Given the description of an element on the screen output the (x, y) to click on. 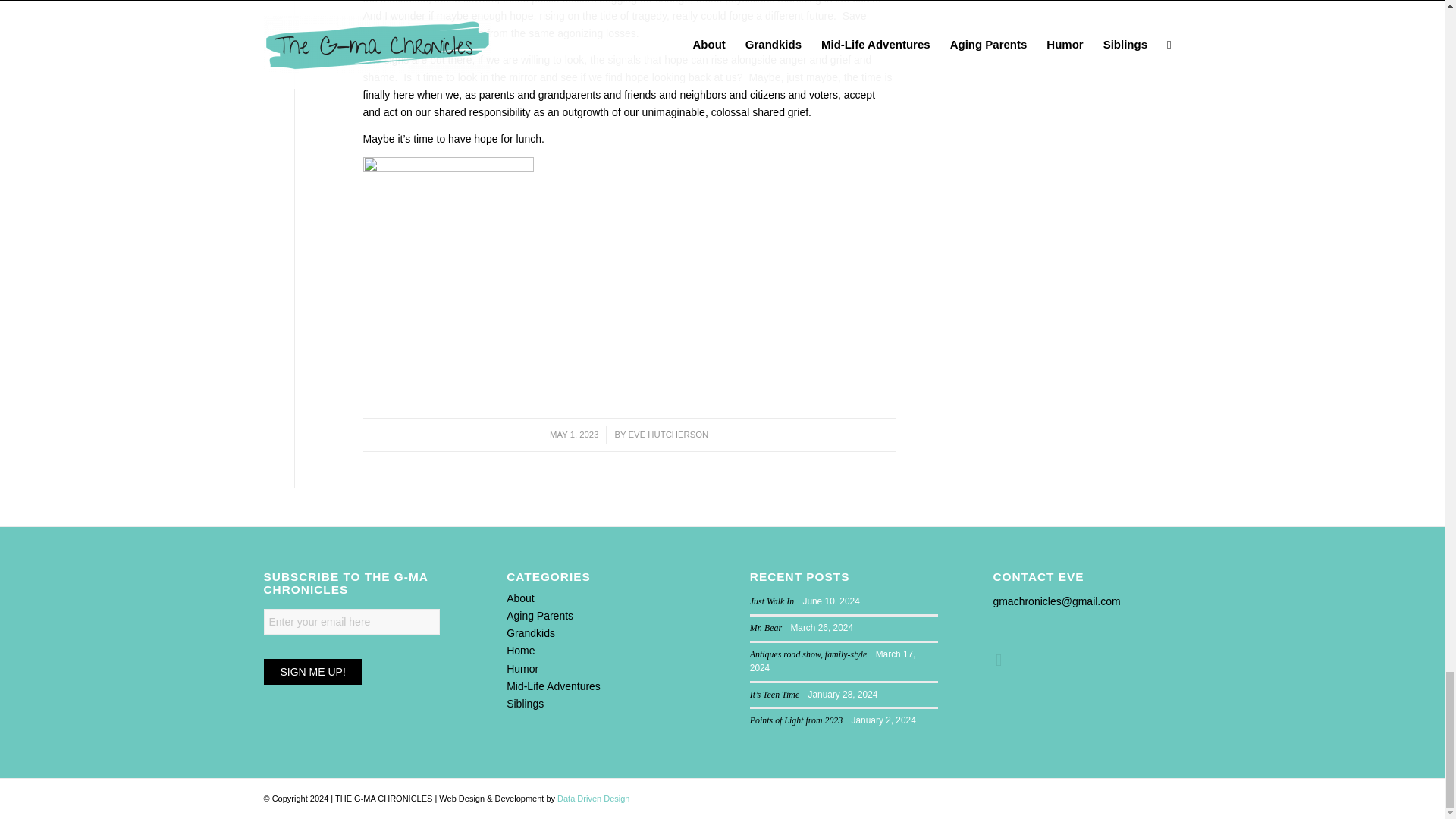
Posts by Eve Hutcherson (668, 433)
EVE HUTCHERSON (668, 433)
SIGN ME UP! (312, 671)
